Given the description of an element on the screen output the (x, y) to click on. 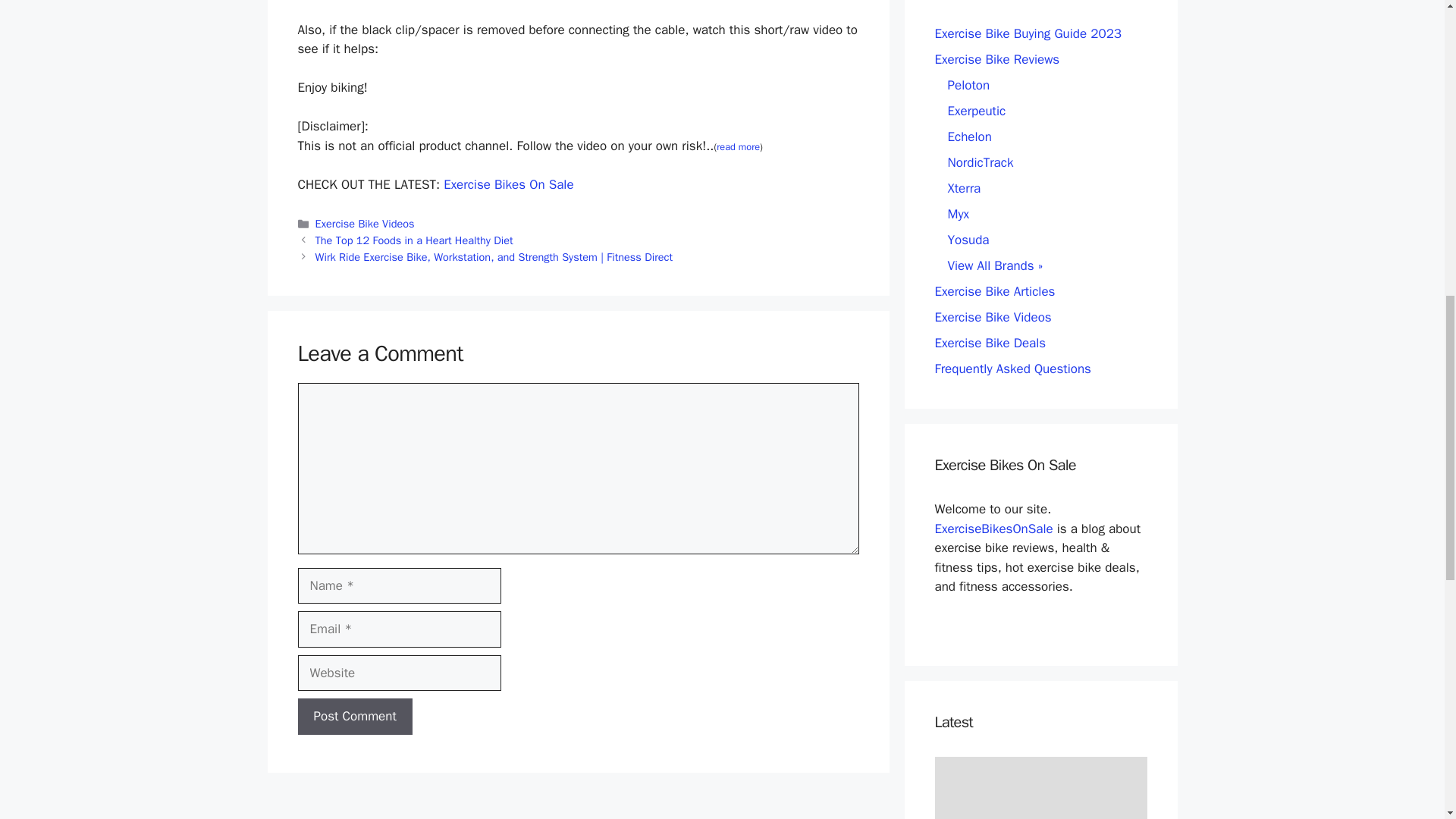
Exercise Bike Reviews (996, 59)
Exercise Bike Videos (992, 317)
Yosuda (968, 239)
Post Comment (354, 716)
Exercise Bike Deals (989, 342)
Xterra (964, 188)
Exercise Bikes On Sale (508, 184)
How to Buy an Under Desk Bike, Find Perfect Pedal Exerciser (1040, 787)
Post Comment (354, 716)
read more (738, 146)
